Given the description of an element on the screen output the (x, y) to click on. 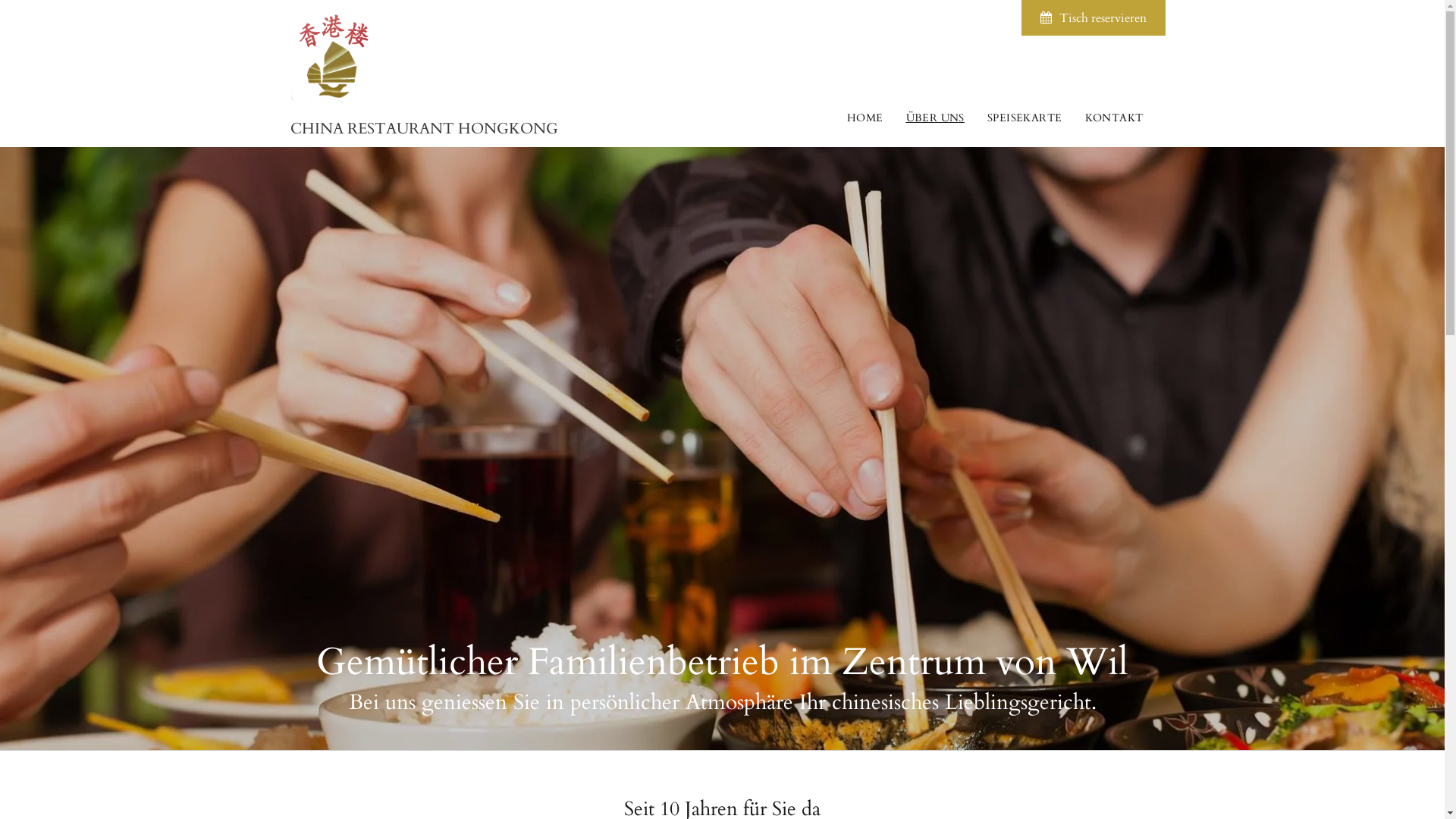
CHINA RESTAURANT HONGKONG Element type: text (423, 128)
Tisch reservieren Element type: text (1093, 17)
SPEISEKARTE Element type: text (1024, 117)
KONTAKT Element type: text (1113, 117)
HOME Element type: text (864, 117)
